Given the description of an element on the screen output the (x, y) to click on. 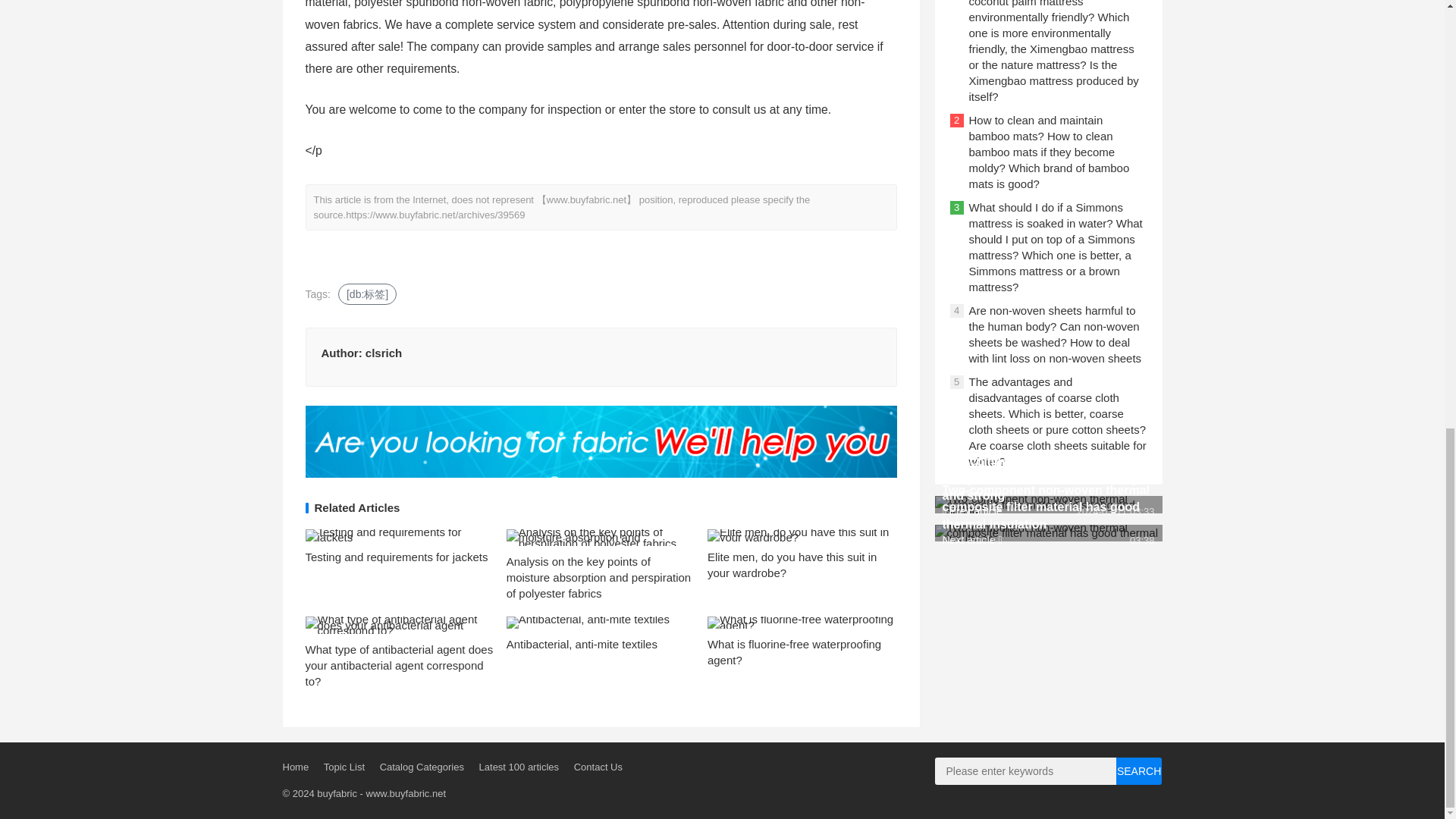
Testing and requirements for jackets (395, 556)
clsrich (383, 352)
Antibacterial, anti-mite textiles (582, 644)
Elite men, do you have this suit in your wardrobe? (791, 564)
What is fluorine-free waterproofing agent? (793, 652)
